Given the description of an element on the screen output the (x, y) to click on. 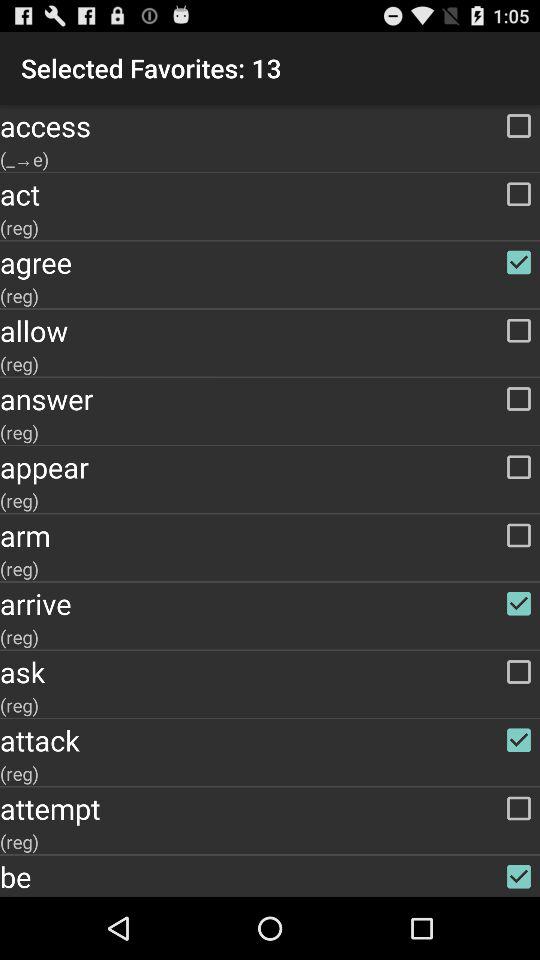
turn off the icon below selected favorites: 13 icon (270, 126)
